Given the description of an element on the screen output the (x, y) to click on. 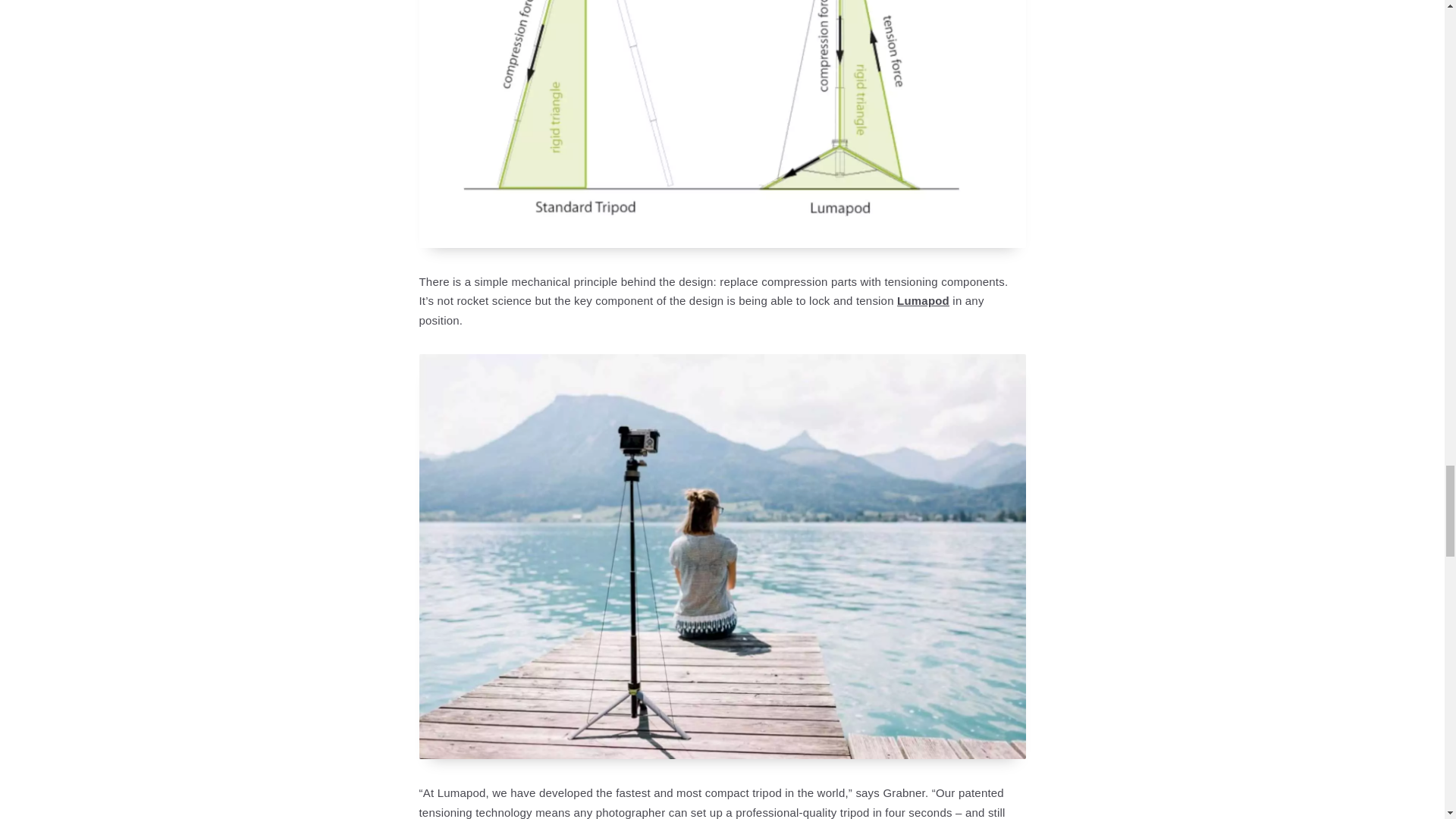
Lumapod (922, 300)
